Given the description of an element on the screen output the (x, y) to click on. 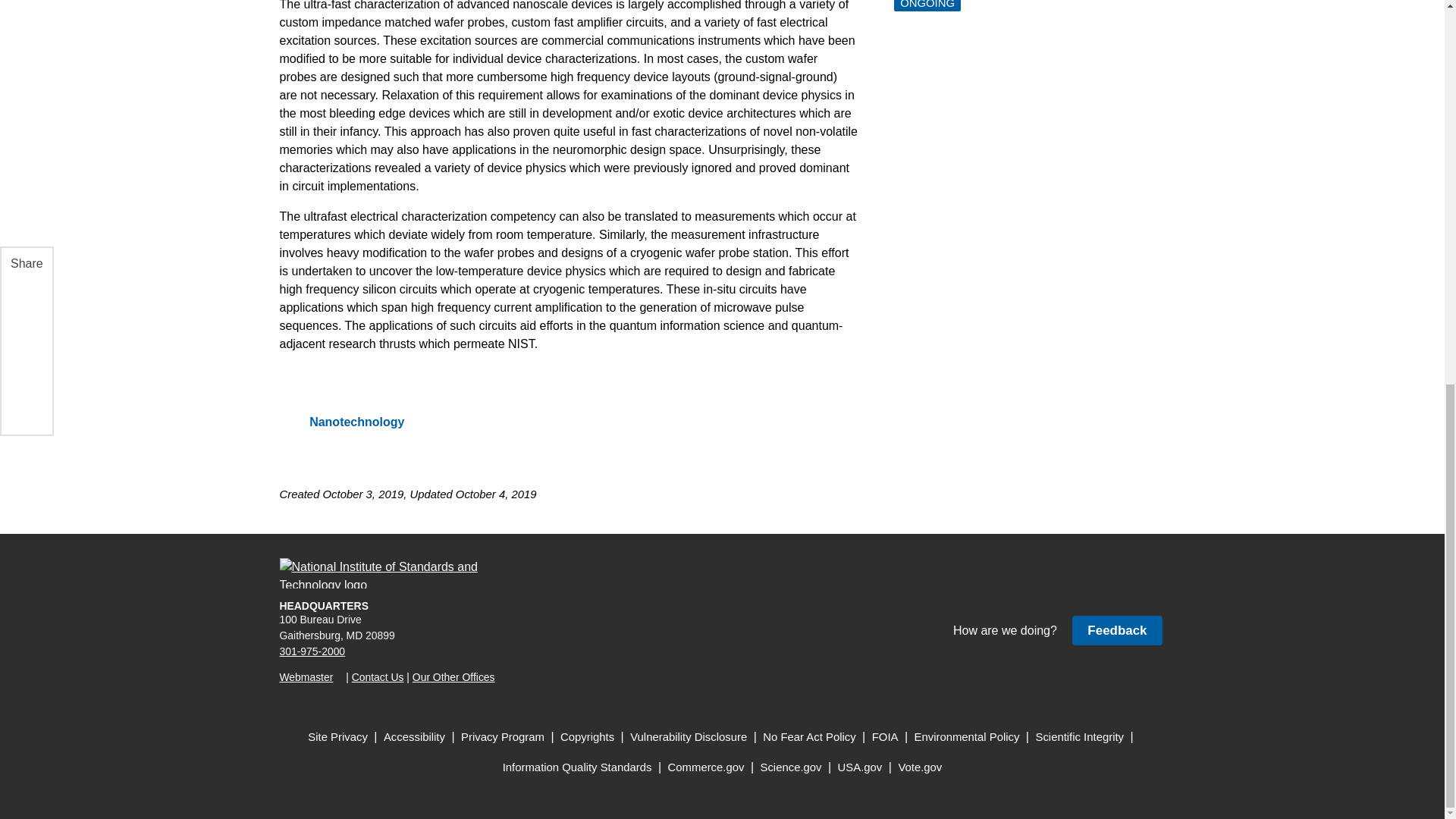
Provide feedback (1116, 630)
National Institute of Standards and Technology (387, 572)
